Given the description of an element on the screen output the (x, y) to click on. 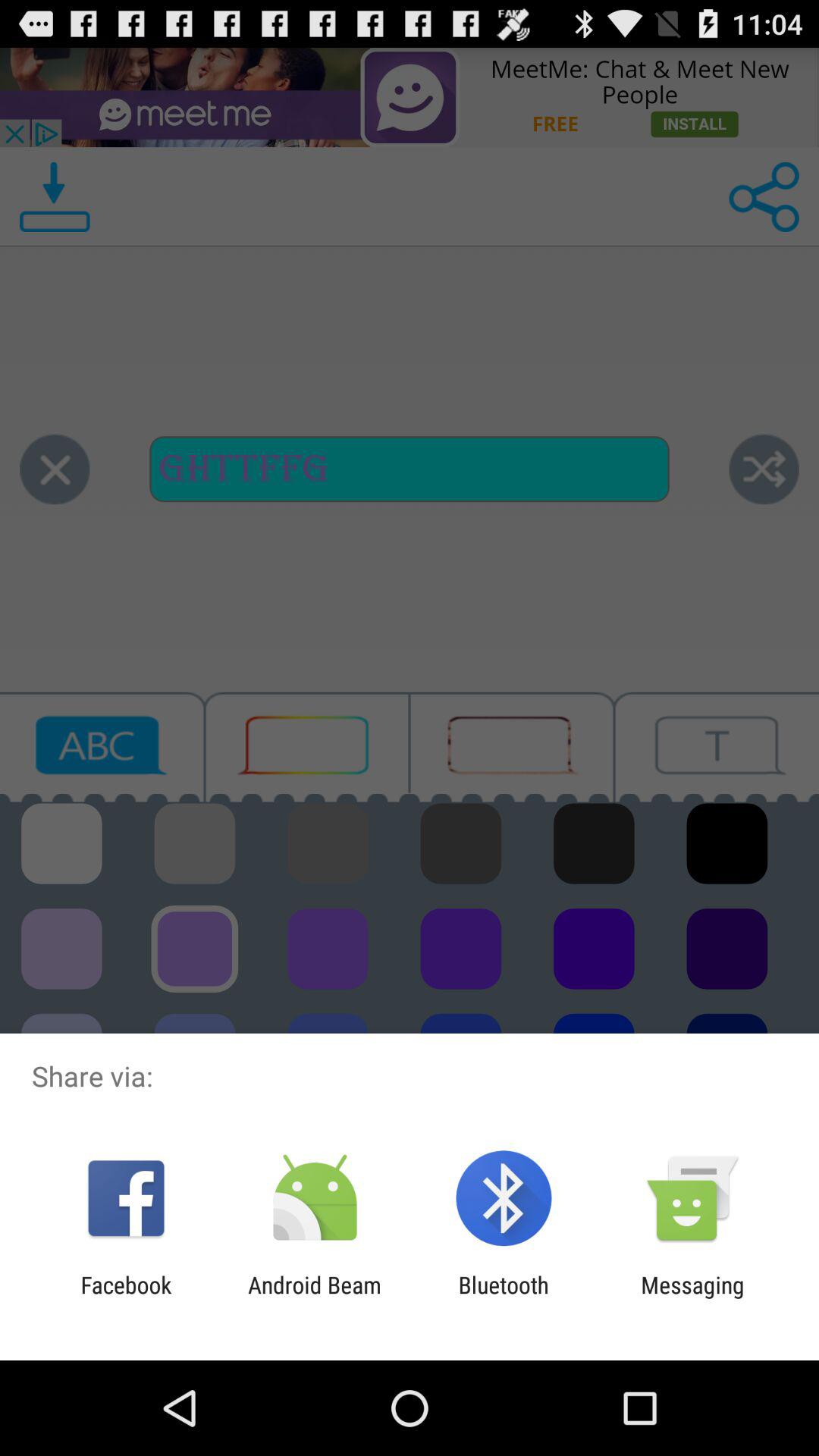
press the app next to android beam (125, 1298)
